Given the description of an element on the screen output the (x, y) to click on. 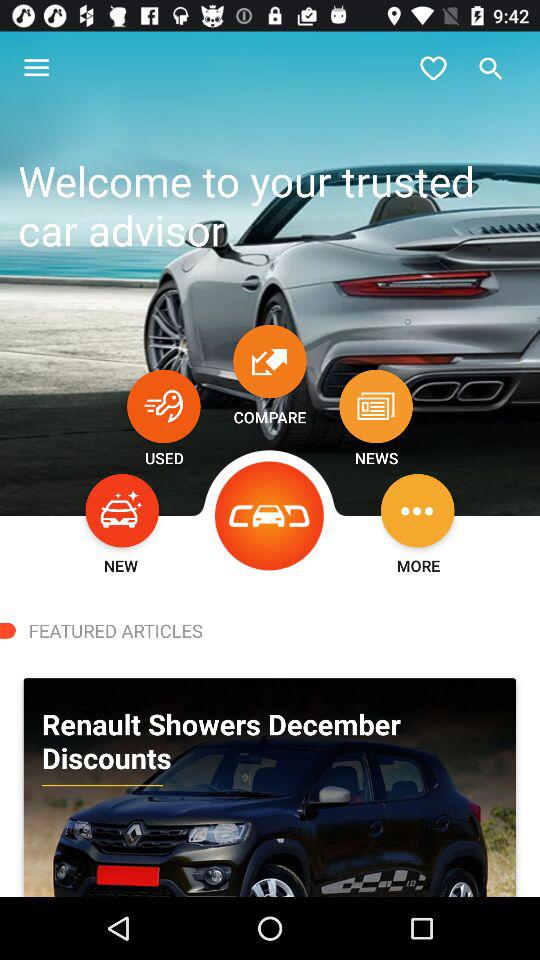
click item to the right of used (269, 515)
